Given the description of an element on the screen output the (x, y) to click on. 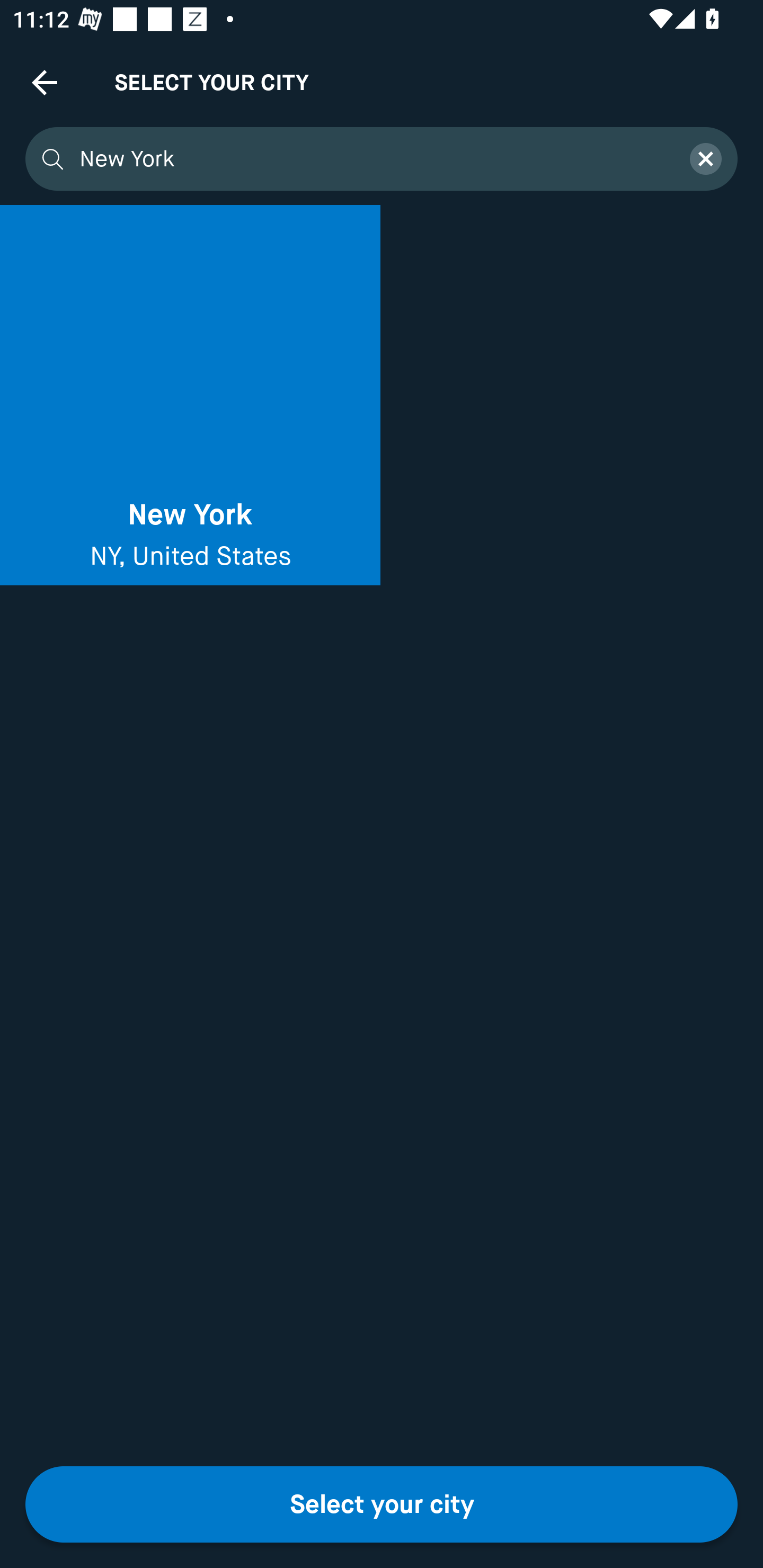
Navigate up (44, 82)
New York (373, 159)
New York NY, United States (190, 394)
Select your city (381, 1504)
